Given the description of an element on the screen output the (x, y) to click on. 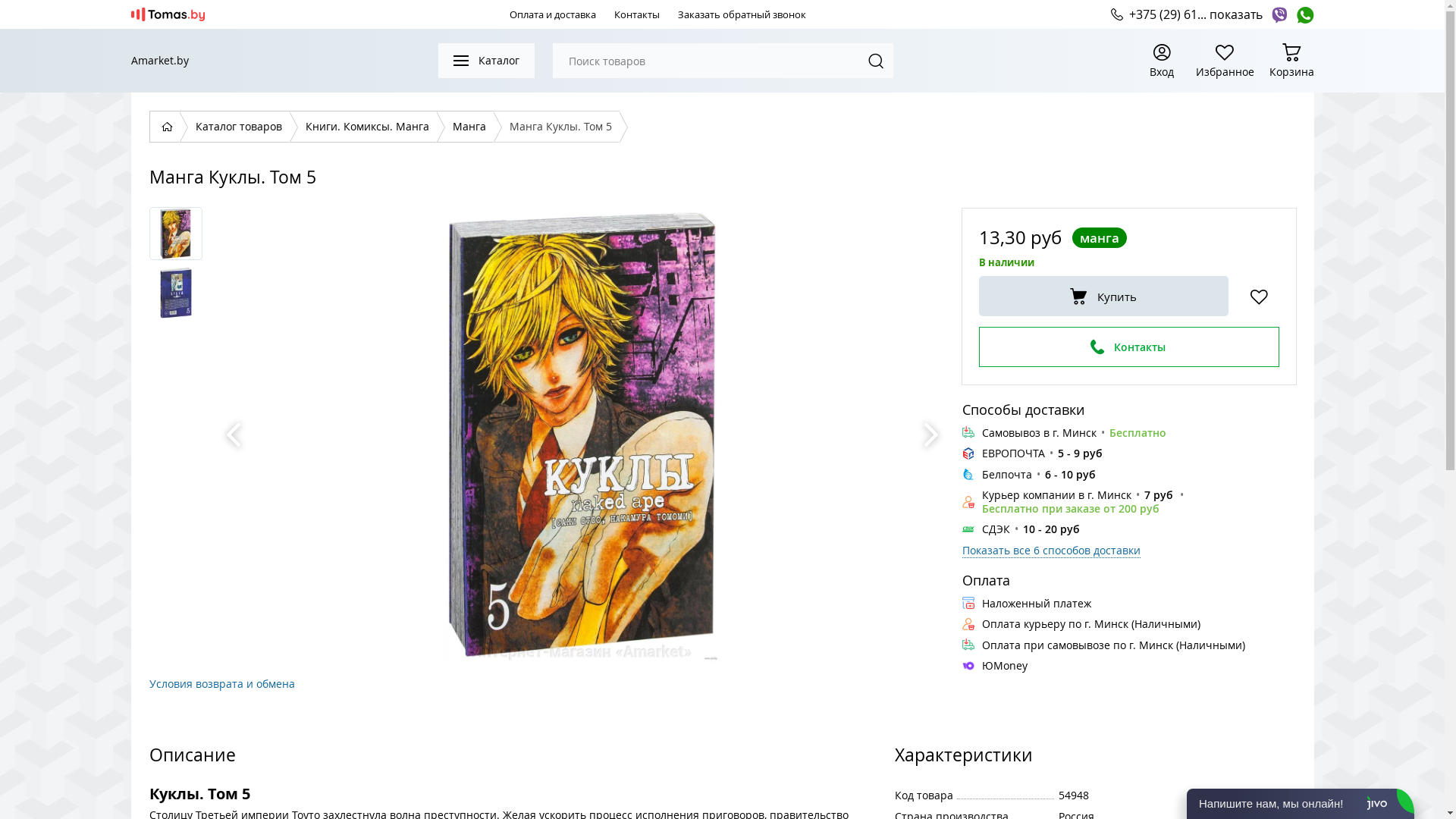
Amarket.by Element type: text (159, 60)
Viber Element type: hover (1278, 14)
WhatsApp Element type: hover (1304, 14)
